Given the description of an element on the screen output the (x, y) to click on. 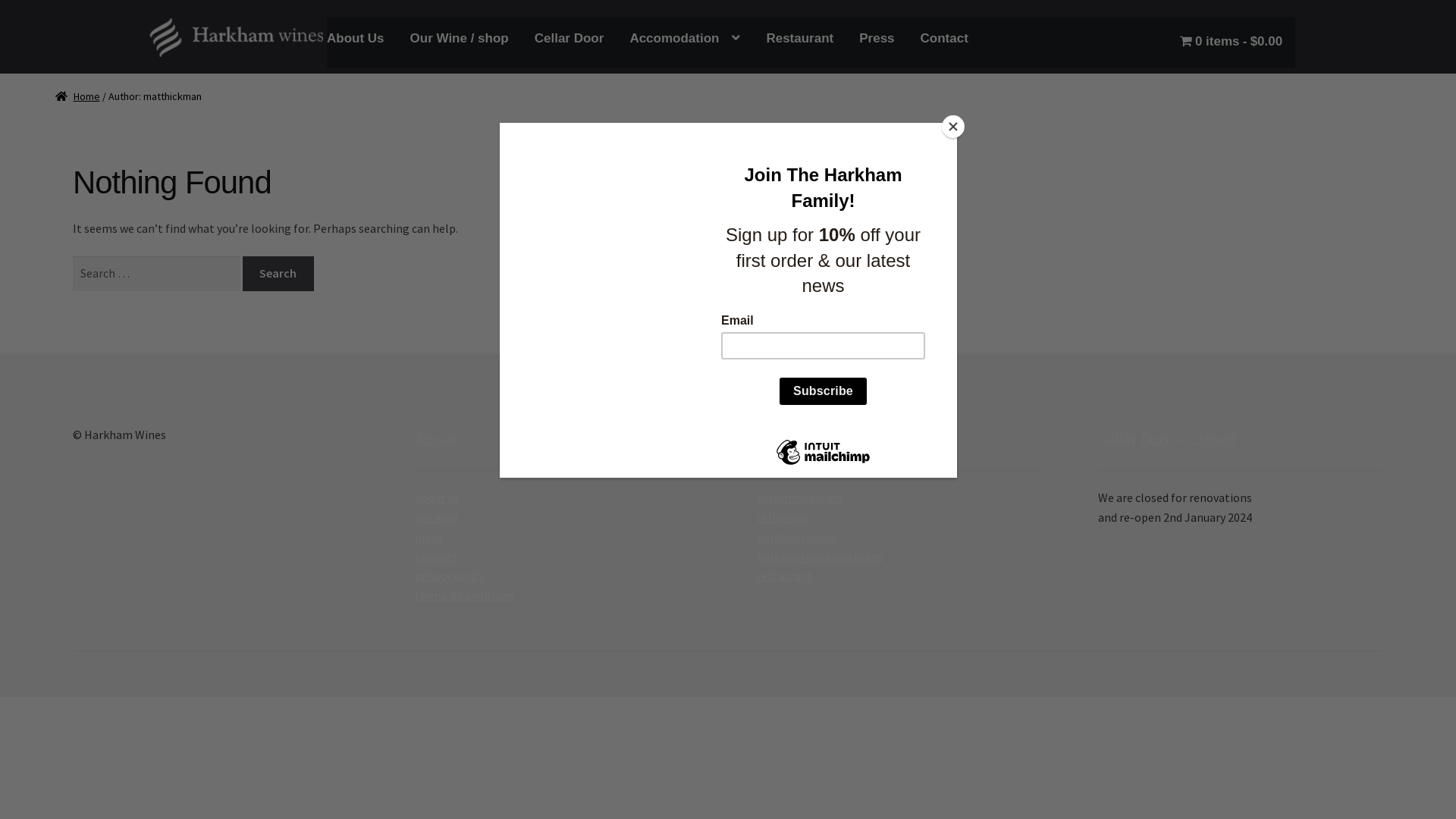
about us Element type: text (436, 497)
our wine Element type: text (436, 516)
0 items$0.00 Element type: text (1231, 40)
Contact Element type: text (944, 38)
Cellar Door Element type: text (569, 38)
harkham windarra lodge Element type: text (819, 556)
harkham house Element type: text (796, 536)
restaurant Element type: text (784, 575)
Skip to navigation Element type: text (72, 37)
Press Element type: text (876, 38)
projects Element type: text (436, 556)
Search Element type: text (277, 273)
accommodation Element type: text (799, 497)
About Us Element type: text (355, 38)
Accomodation Element type: text (684, 38)
cellar door Element type: text (784, 516)
Our Wine / shop Element type: text (459, 38)
privacy policy Element type: text (449, 575)
Restaurant Element type: text (799, 38)
terms & conditions Element type: text (464, 594)
press Element type: text (428, 536)
Home Element type: text (77, 96)
